Given the description of an element on the screen output the (x, y) to click on. 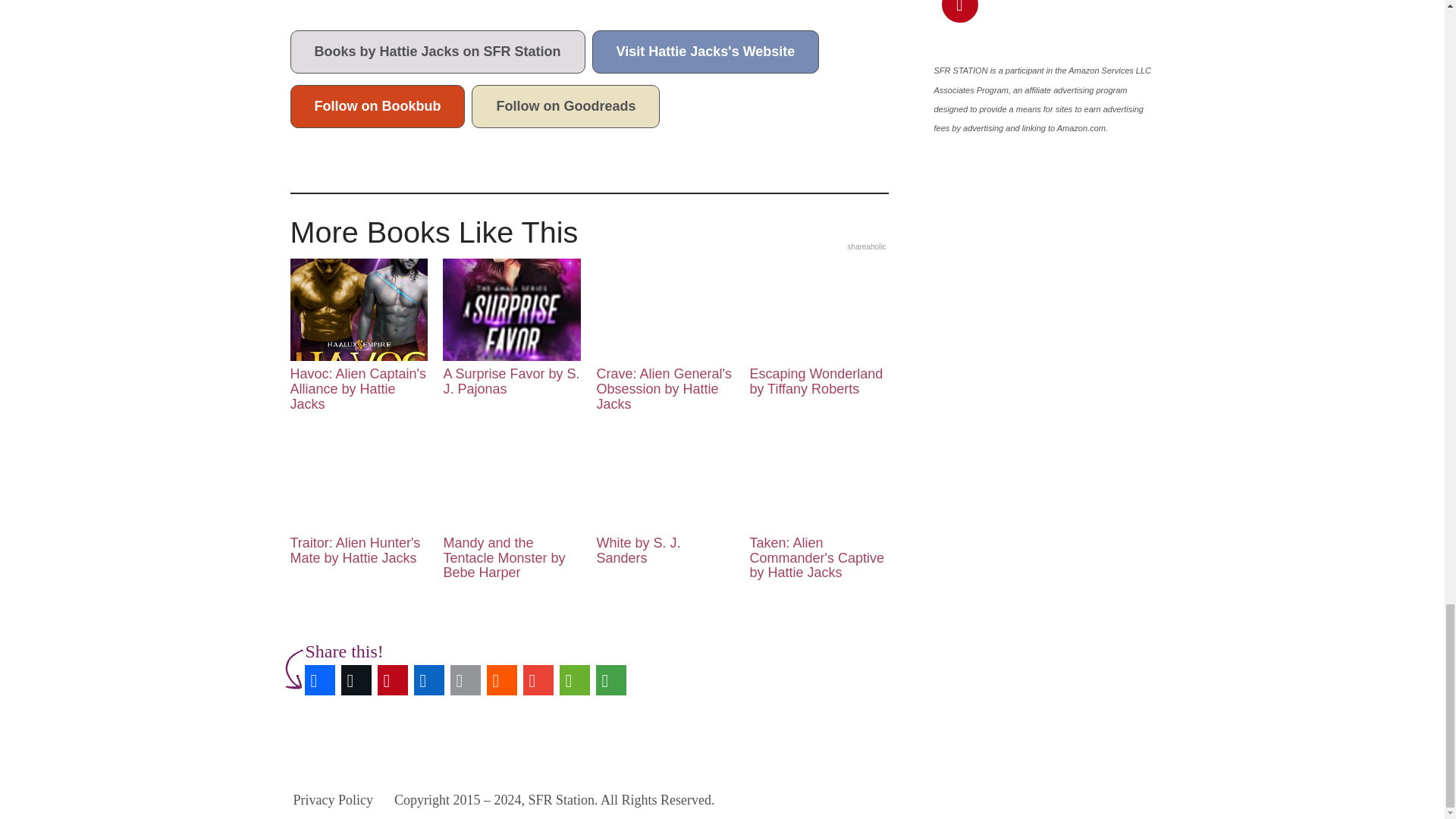
Crave: Alien General's Obsession by Hattie Jacks (664, 334)
Escaping Wonderland by Tiffany Roberts (817, 327)
Havoc: Alien Captain's Alliance by Hattie Jacks (357, 334)
A Surprise Favor by S. J. Pajonas (510, 327)
